Given the description of an element on the screen output the (x, y) to click on. 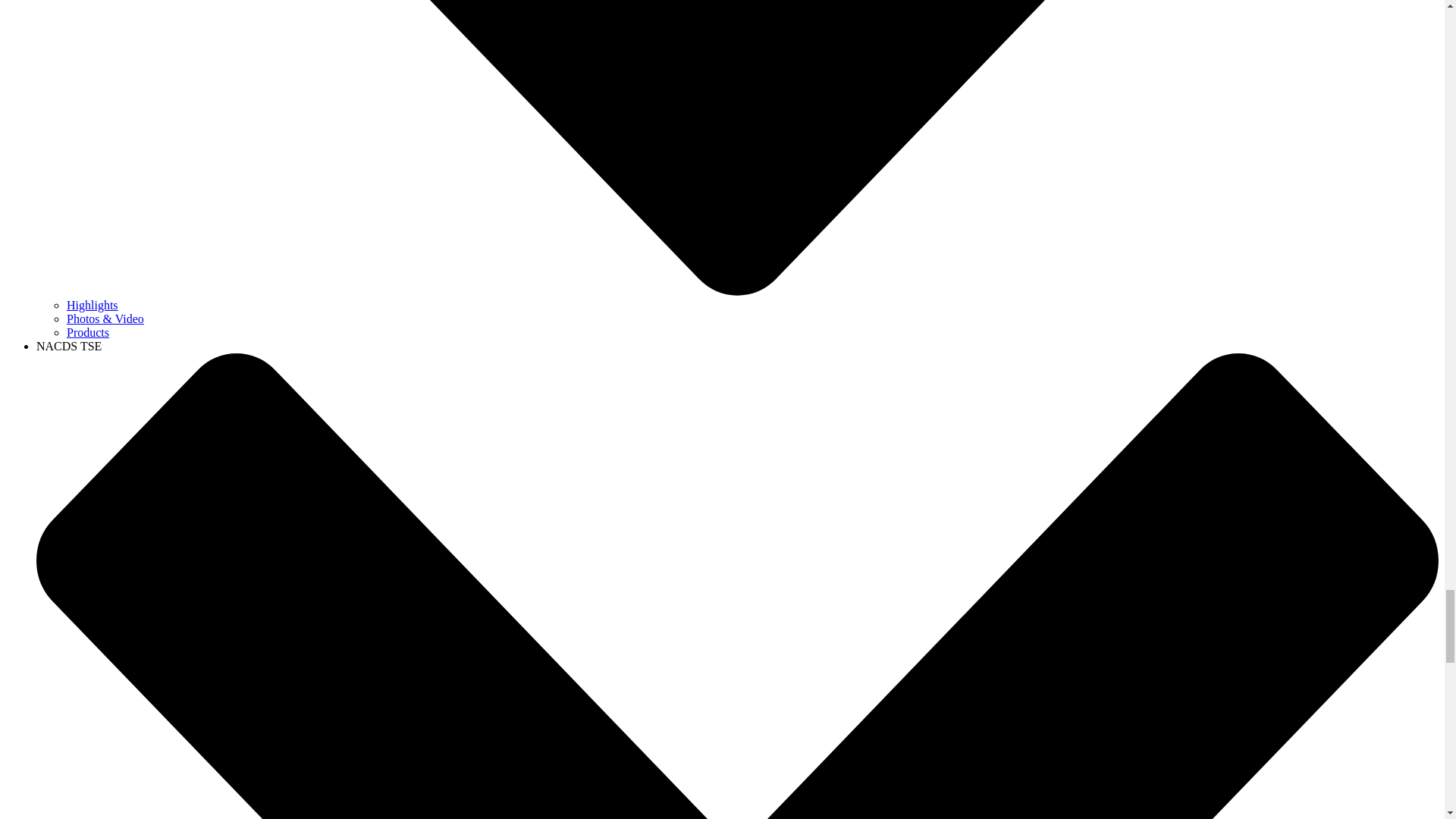
NACDS TSE (68, 345)
Highlights (91, 305)
Products (87, 332)
